Given the description of an element on the screen output the (x, y) to click on. 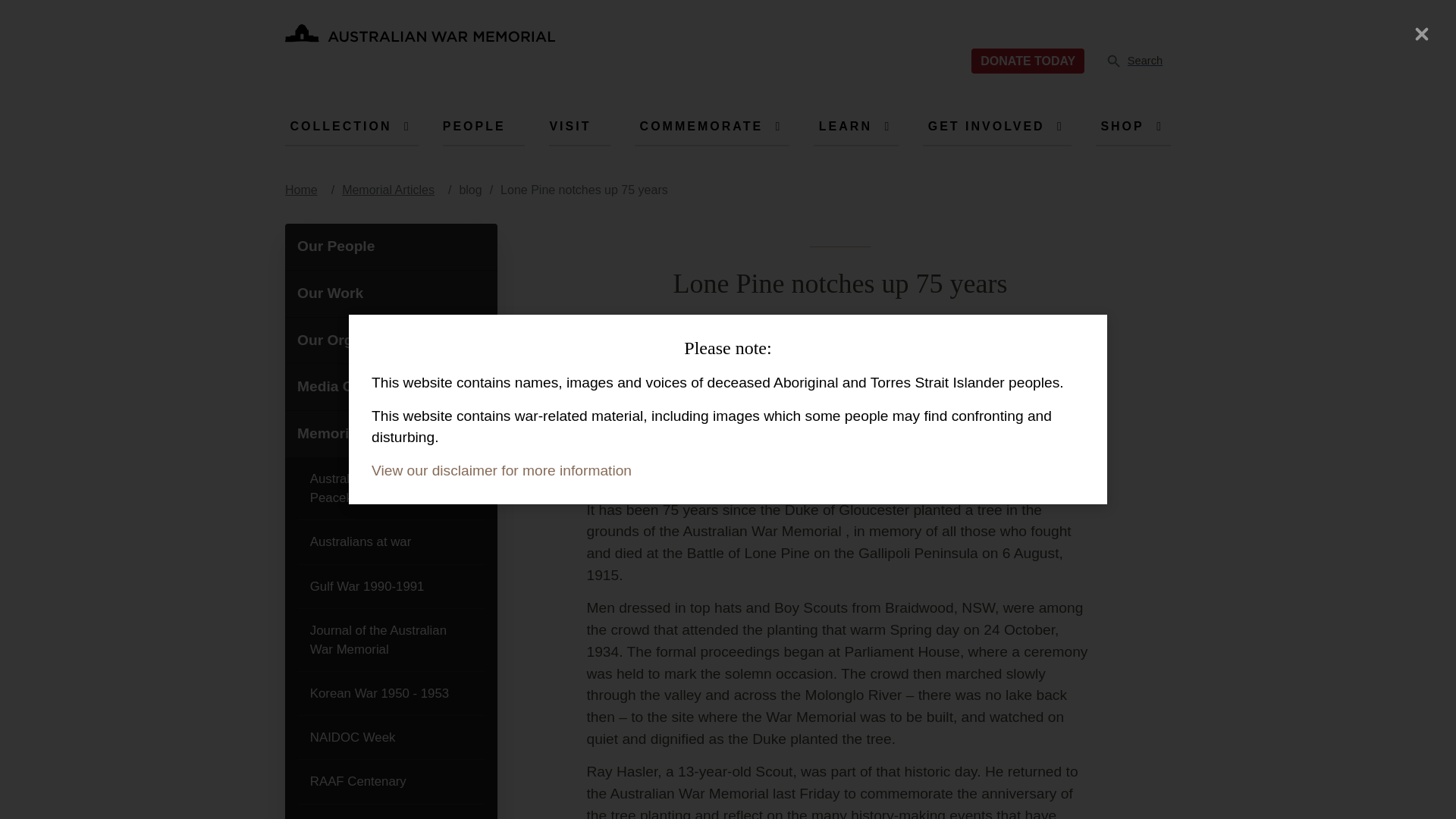
COMMEMORATE (700, 126)
Australian War Memorial Logo (419, 38)
VISIT (569, 126)
LEARN (844, 126)
GET INVOLVED (986, 126)
Home (1140, 61)
COLLECTION (419, 38)
PEOPLE (340, 126)
DONATE TODAY (473, 126)
